Given the description of an element on the screen output the (x, y) to click on. 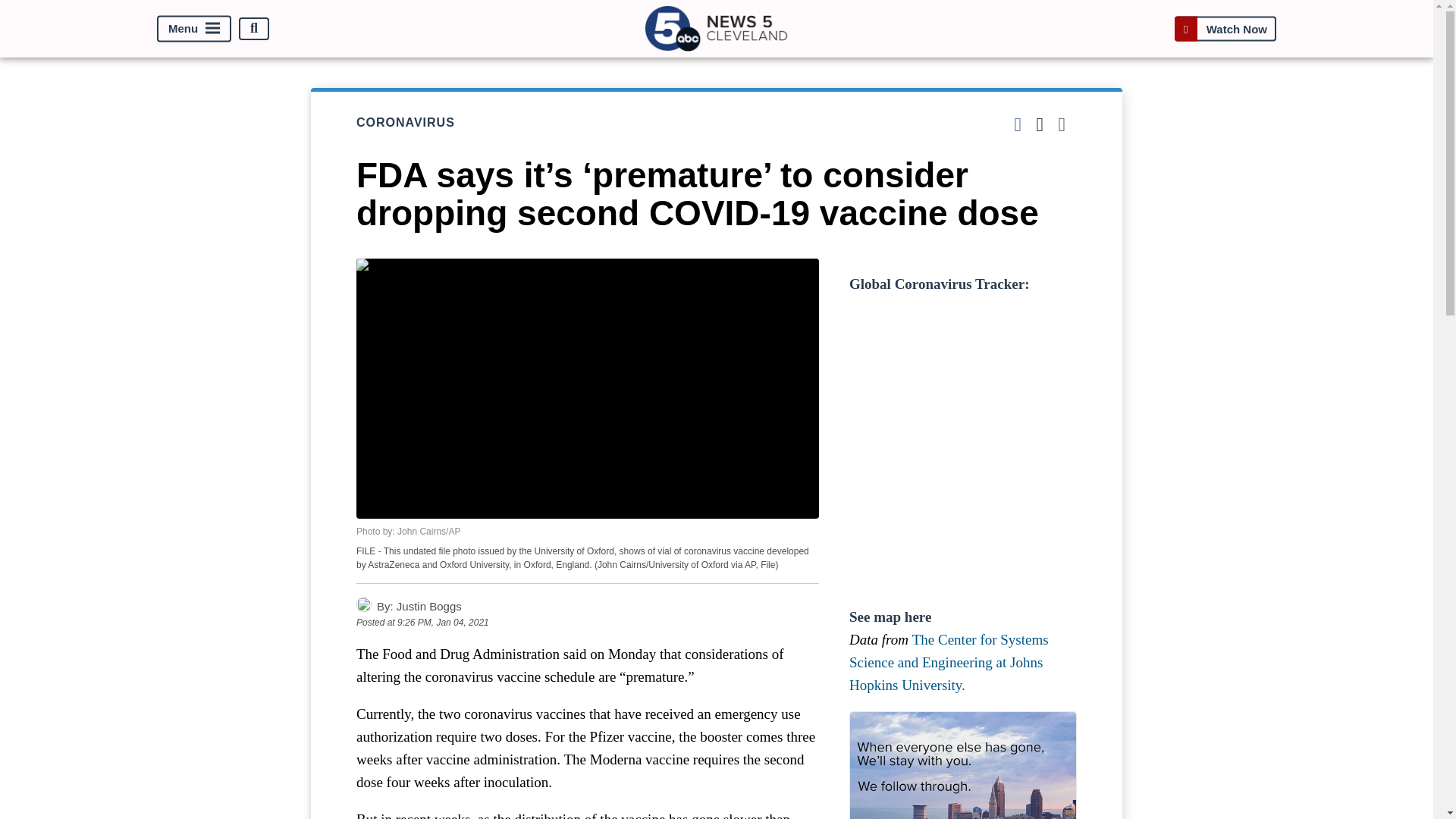
Menu (194, 28)
Watch Now (1224, 28)
